Given the description of an element on the screen output the (x, y) to click on. 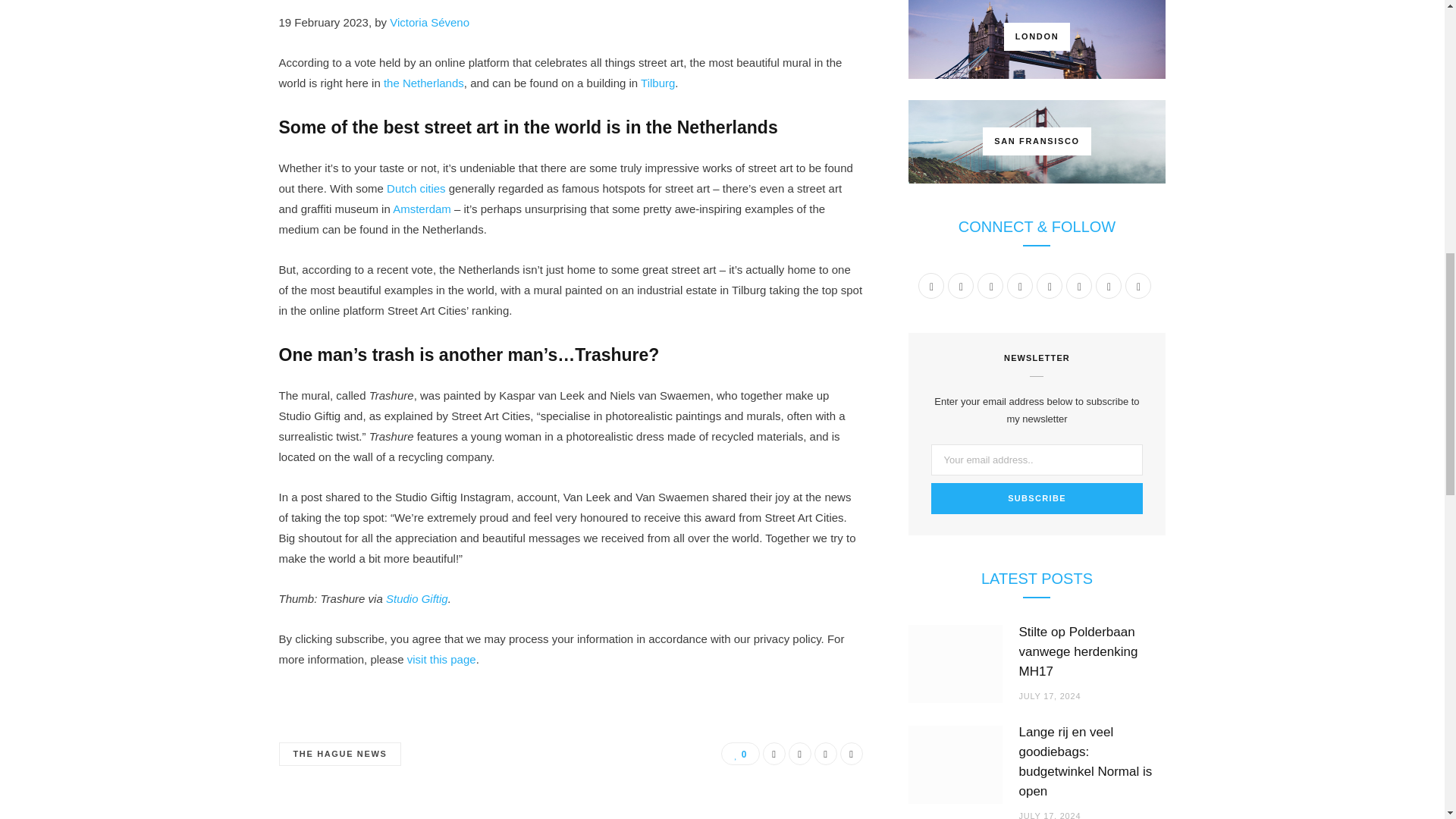
Share on Facebook (774, 753)
Pinterest (825, 753)
Share on Twitter (799, 753)
Email (851, 753)
Subscribe (1036, 498)
